Given the description of an element on the screen output the (x, y) to click on. 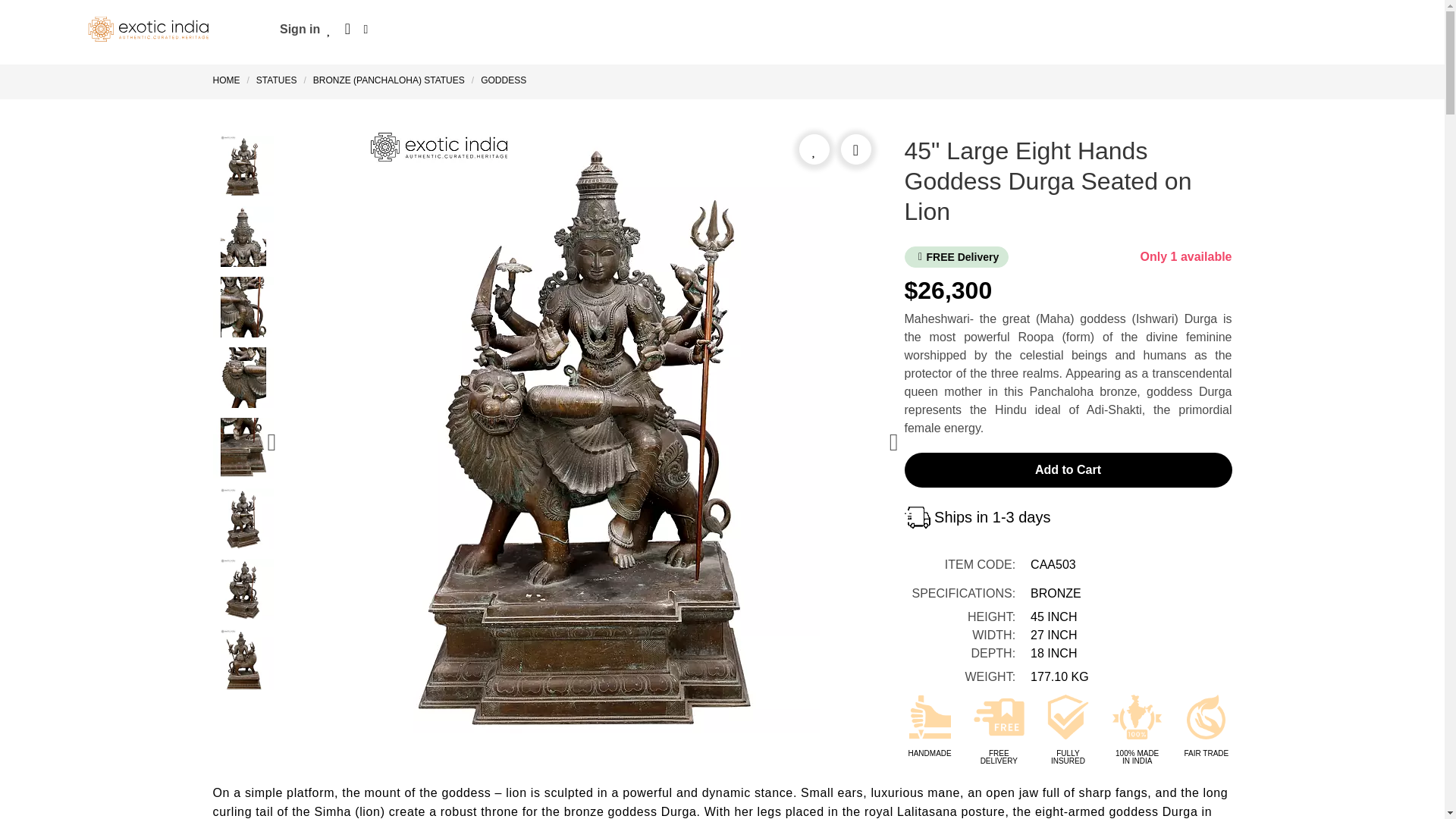
Statues (276, 79)
45" Large Eight Hands Goddess Durga Seated on Lion (242, 450)
45" Large Eight Hands Goddess Durga Seated on Lion (242, 309)
45" Large Eight Hands Goddess Durga Seated on Lion (242, 520)
Home (229, 79)
Wishlist (328, 29)
Sign in (299, 29)
45" Large Eight Hands Goddess Durga Seated on Lion (242, 238)
Goddess (503, 79)
